Given the description of an element on the screen output the (x, y) to click on. 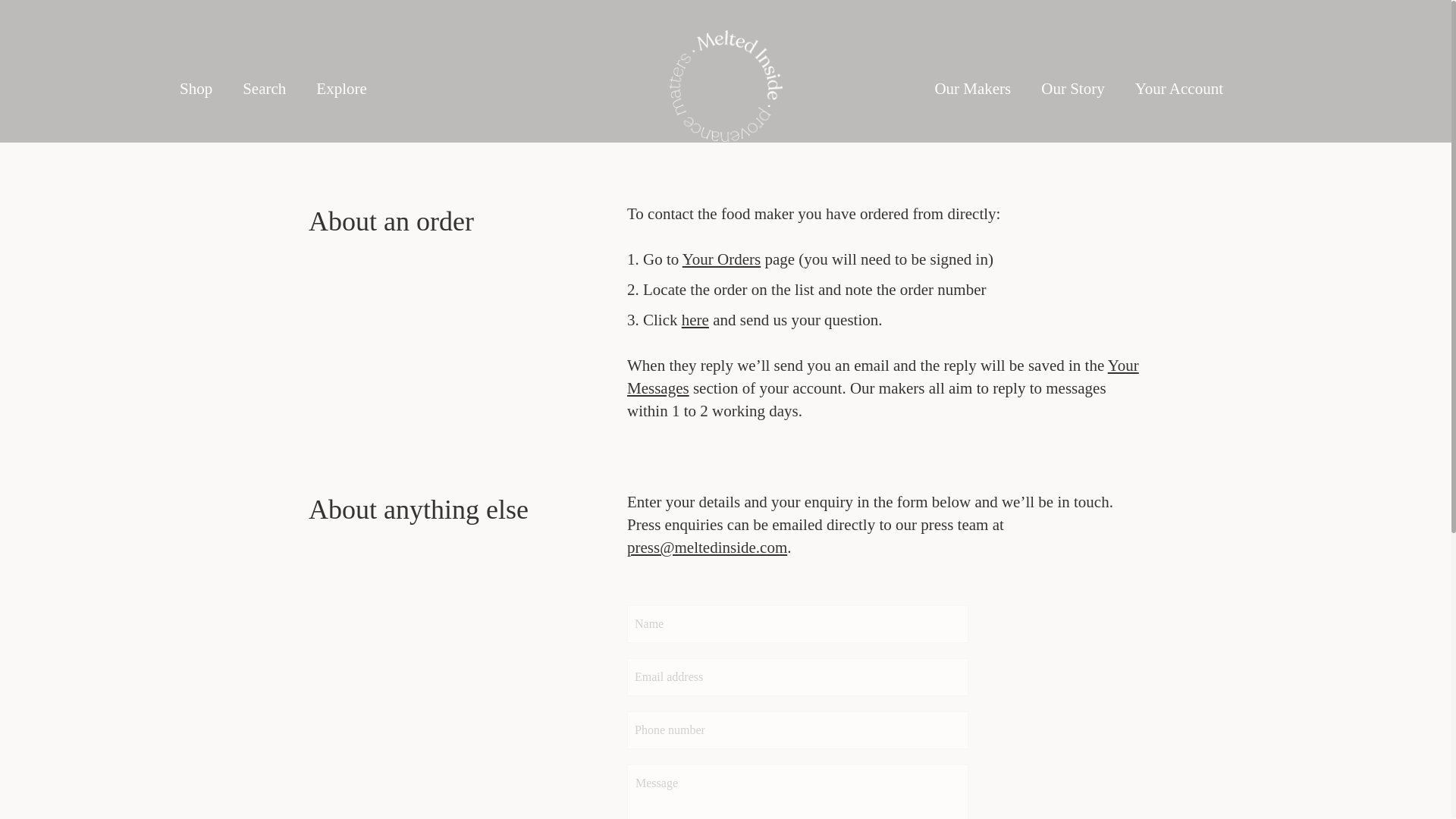
Explore (340, 88)
Melted Inside (725, 85)
Our Story (1072, 88)
Your Account (1179, 88)
Melted Inside (725, 88)
Our Makers (972, 88)
